Given the description of an element on the screen output the (x, y) to click on. 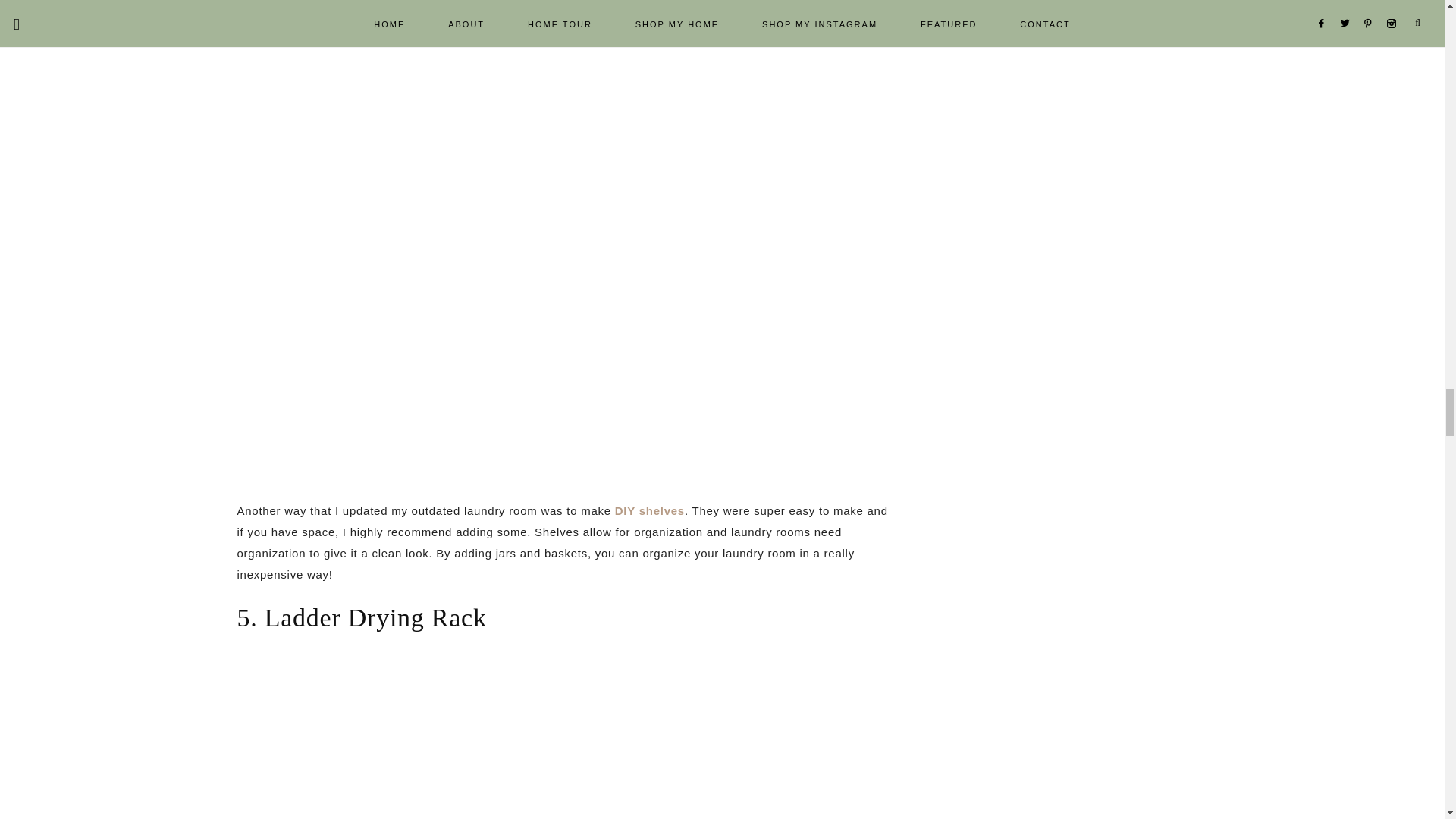
DIY shelves (649, 510)
